Given the description of an element on the screen output the (x, y) to click on. 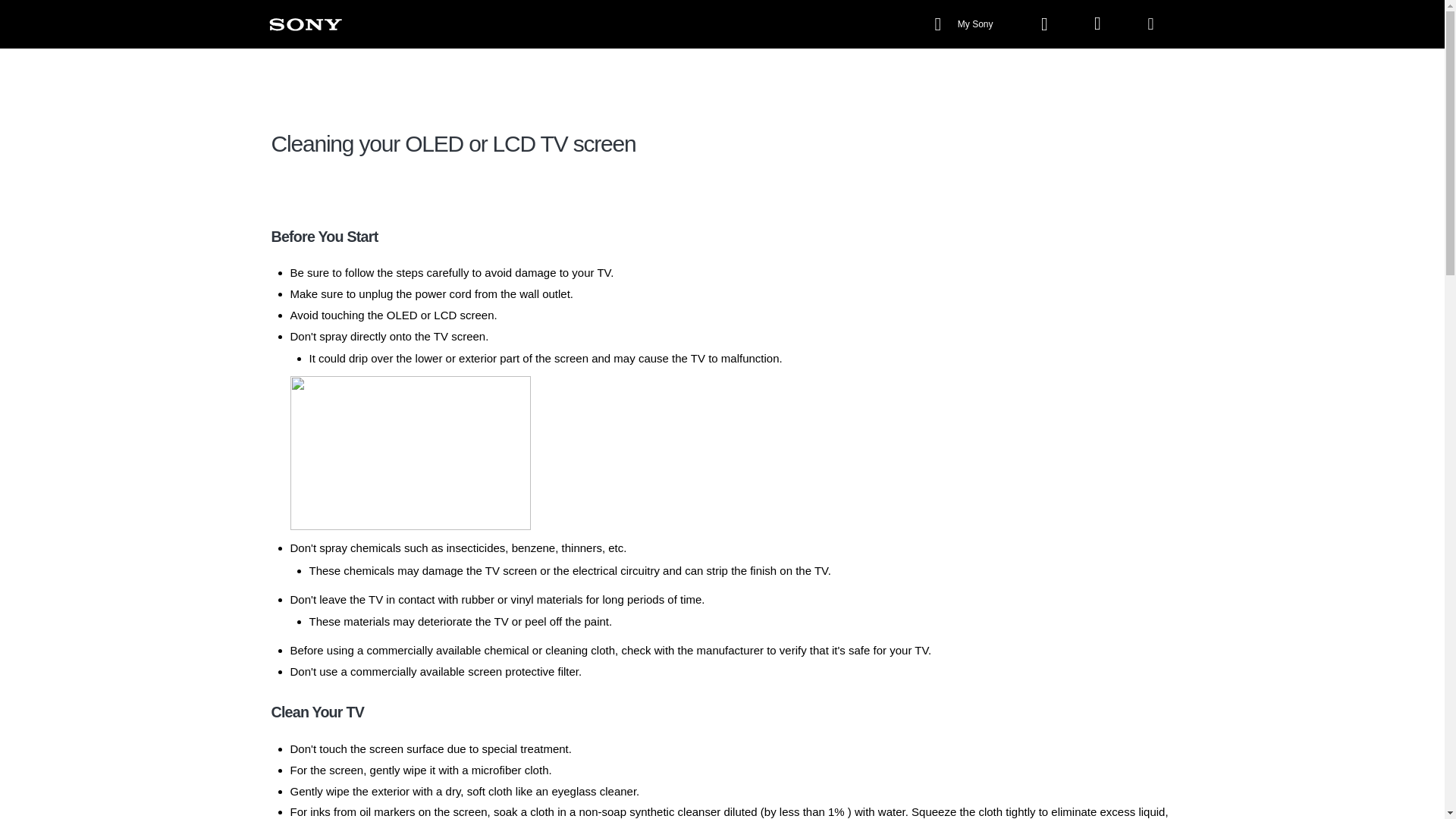
My Sony (964, 24)
